Given the description of an element on the screen output the (x, y) to click on. 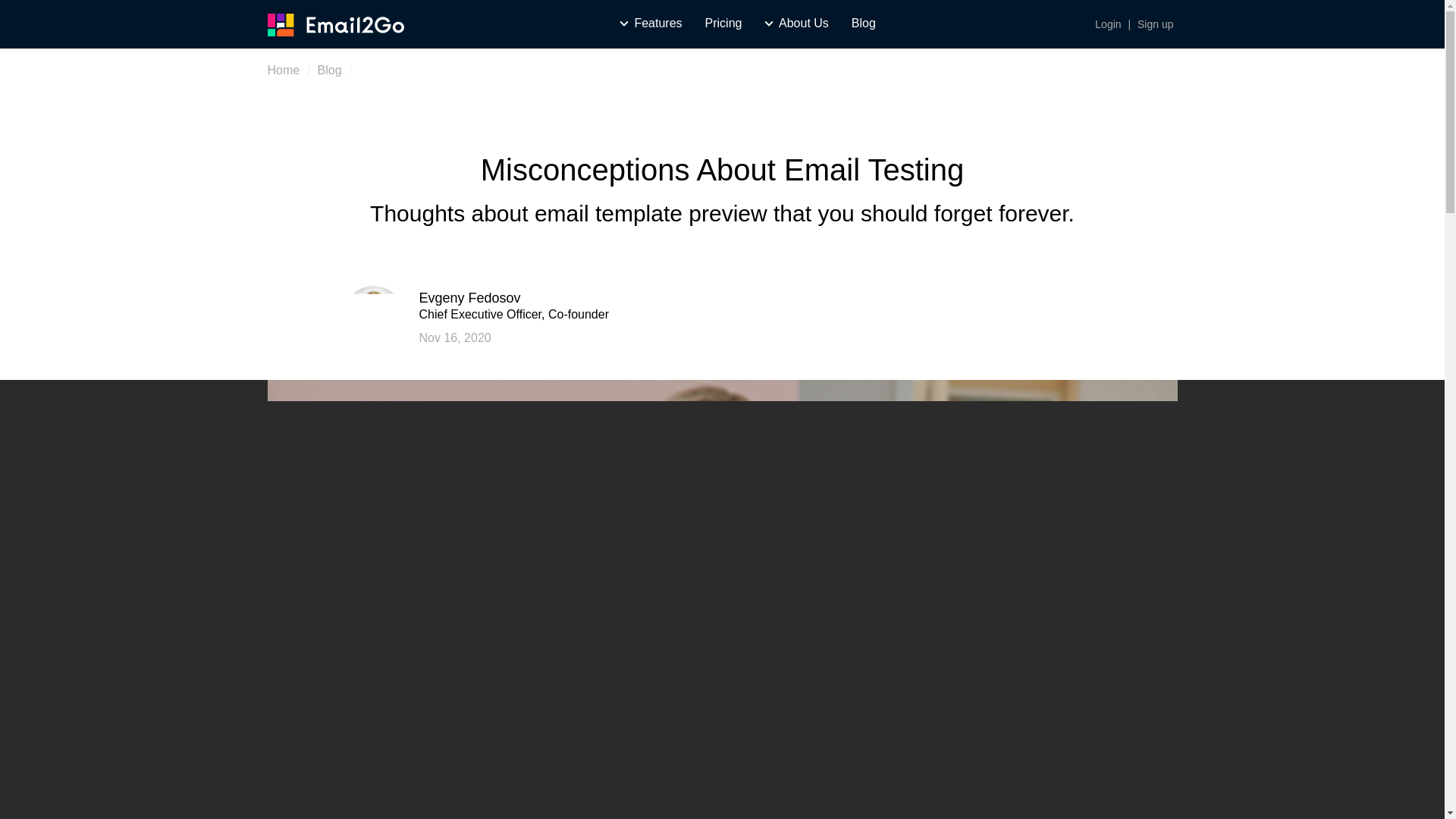
Sign up (1155, 24)
Blog (329, 69)
Blog (863, 22)
Pricing (723, 22)
Evgeny Fedosov (469, 296)
Home (282, 69)
Login (1107, 24)
